Given the description of an element on the screen output the (x, y) to click on. 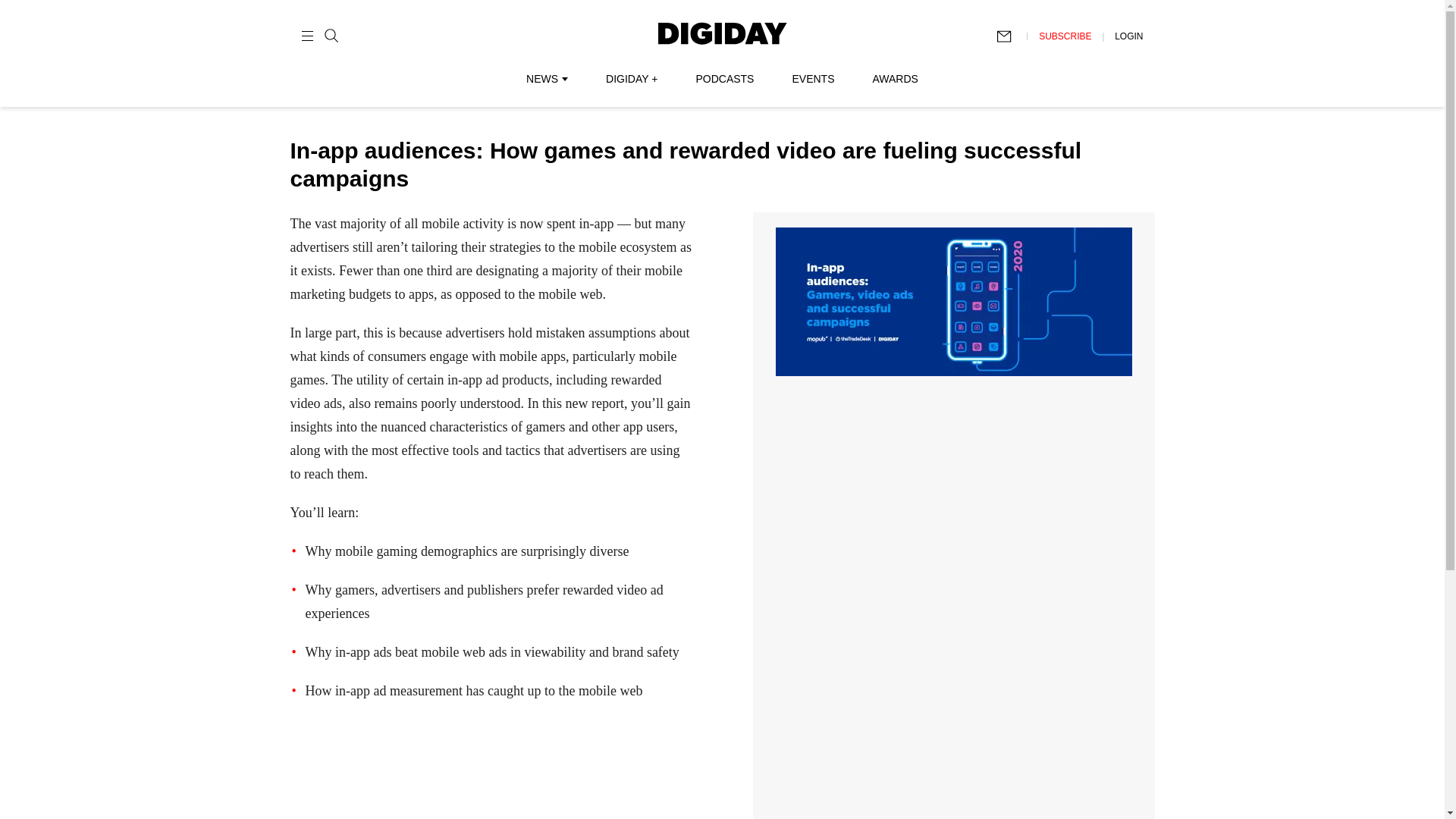
LOGIN (1128, 36)
PODCASTS (725, 78)
AWARDS (894, 78)
Subscribe (1010, 36)
EVENTS (813, 78)
SUBSCRIBE (1064, 36)
NEWS (546, 78)
